Given the description of an element on the screen output the (x, y) to click on. 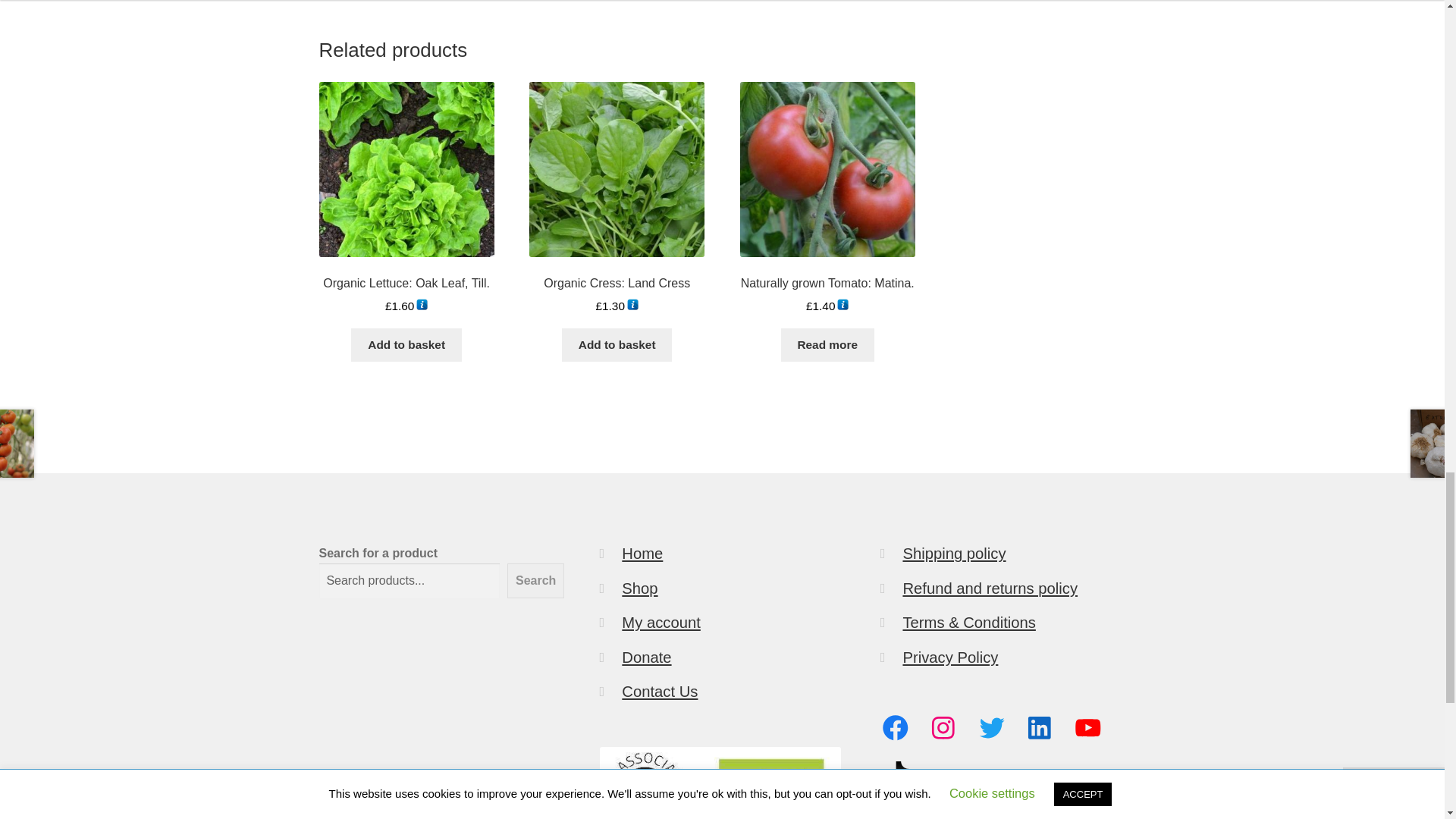
Add to basket (405, 344)
Read more (827, 344)
Add to basket (616, 344)
